Given the description of an element on the screen output the (x, y) to click on. 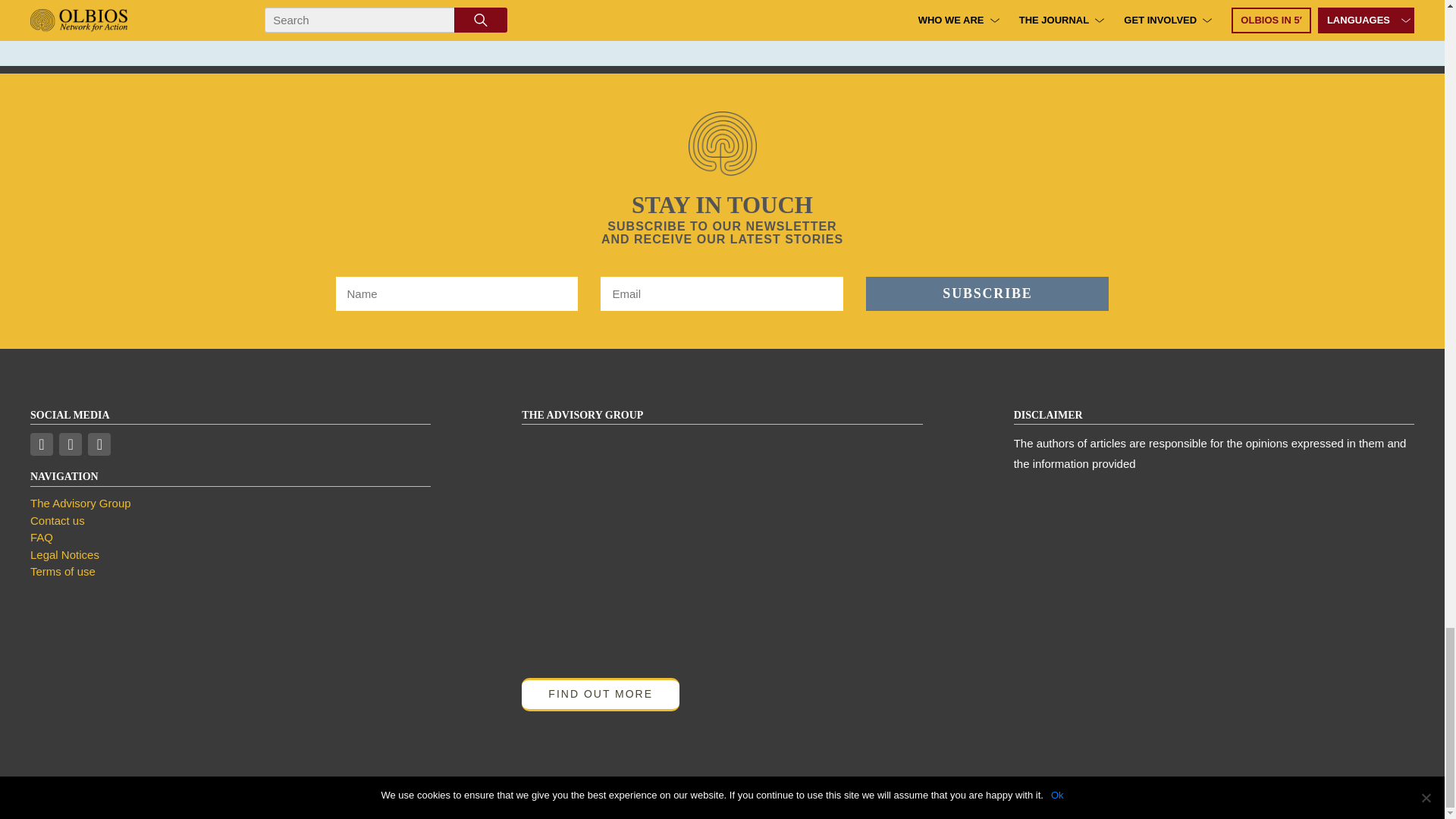
Subscribe (987, 293)
